Given the description of an element on the screen output the (x, y) to click on. 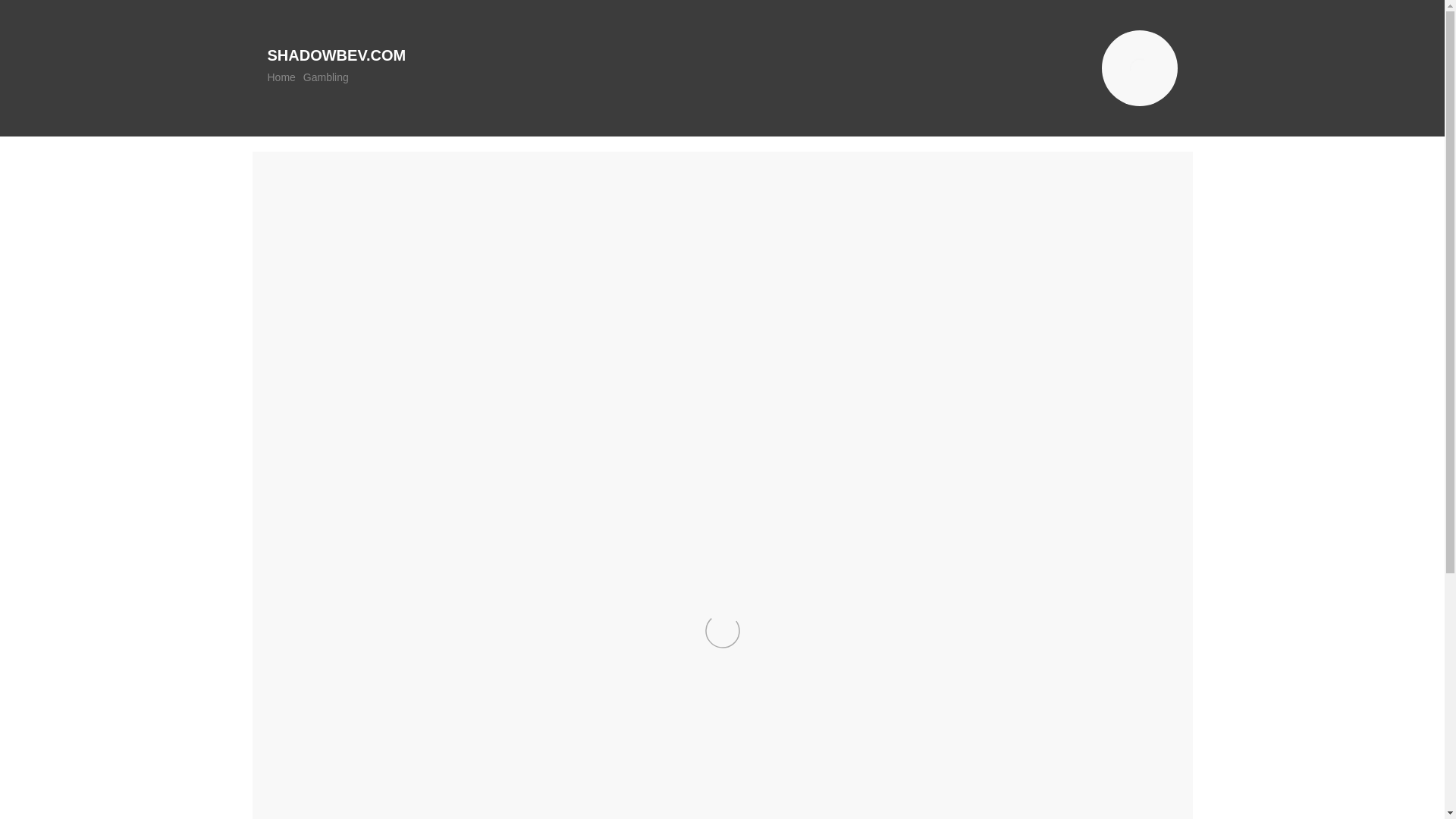
SHADOWBEV.COM (336, 54)
Home (280, 77)
Shadowbev.com (336, 54)
Gambling (325, 77)
